Given the description of an element on the screen output the (x, y) to click on. 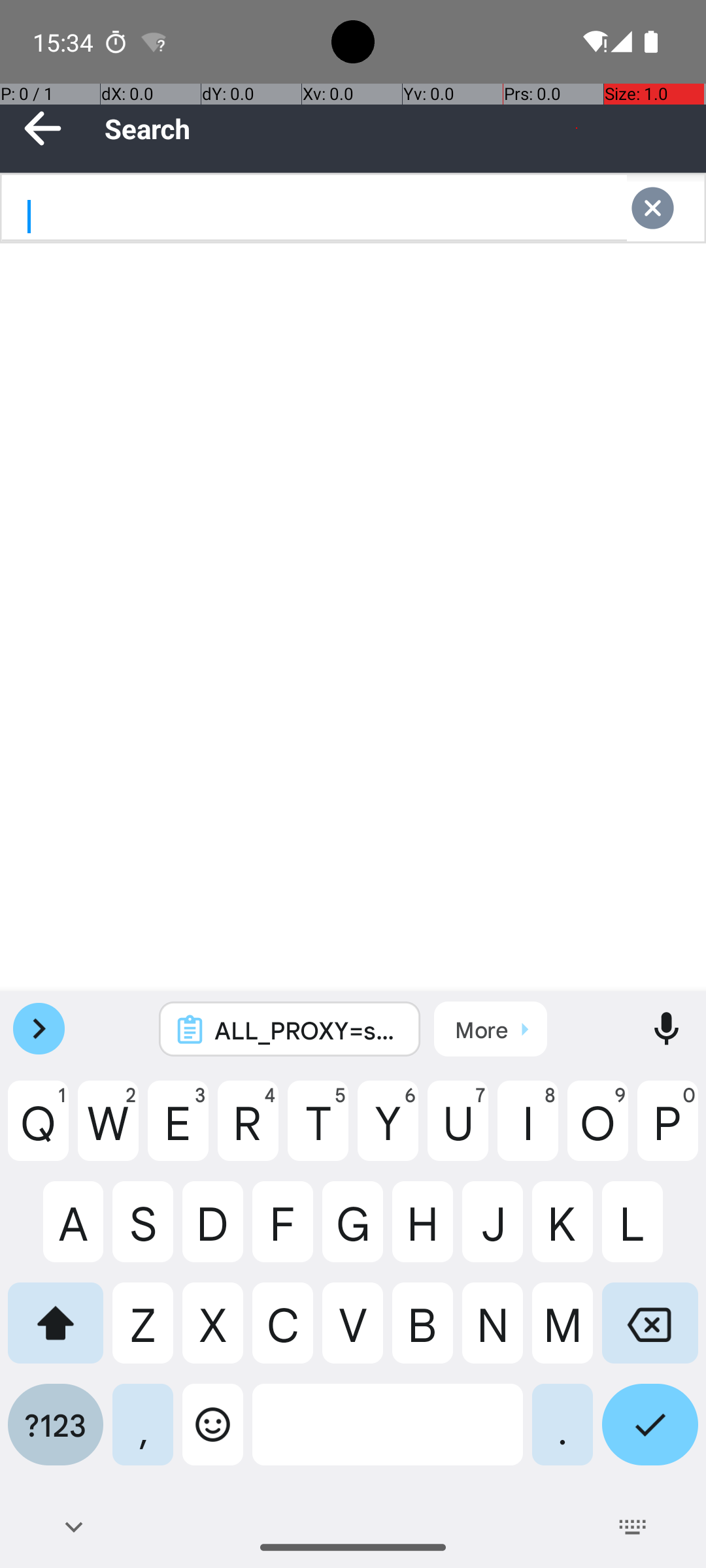
Clear Element type: android.view.ViewGroup (665, 207)
 Element type: android.widget.TextView (665, 207)
